Given the description of an element on the screen output the (x, y) to click on. 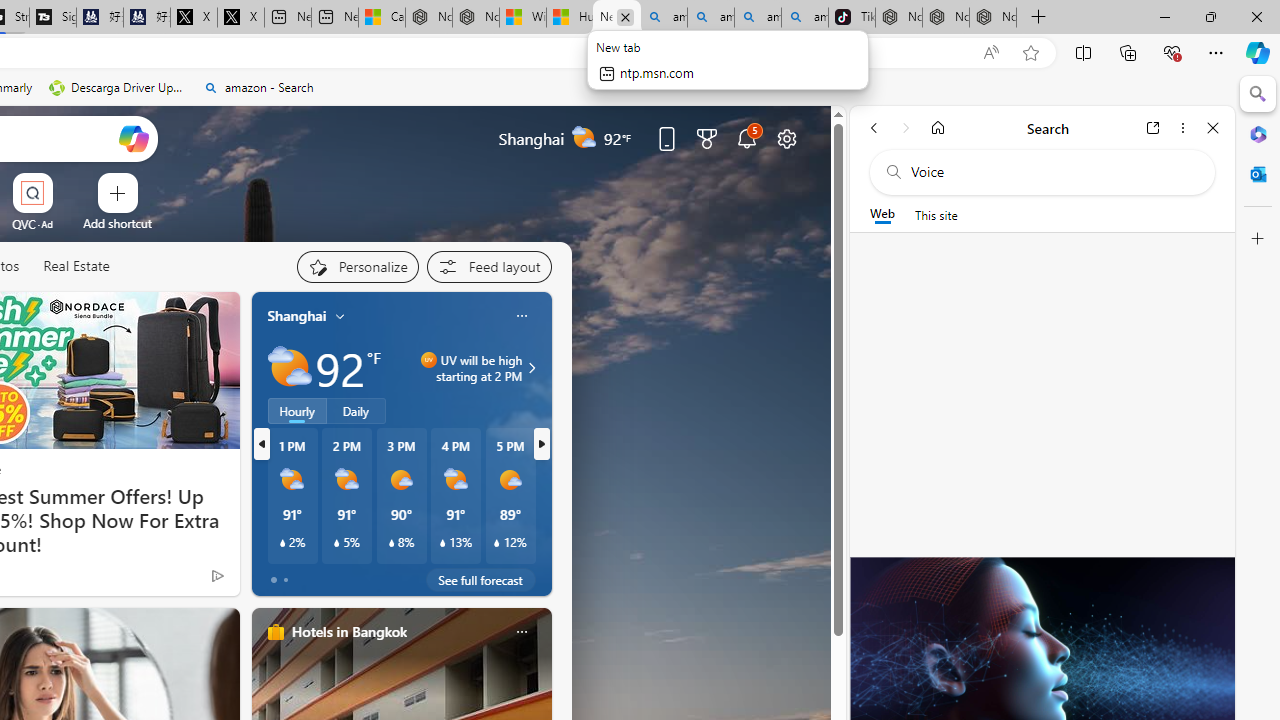
Page settings (786, 138)
Nordace - Best Sellers (898, 17)
This site scope (936, 215)
Daily (356, 411)
tab-1 (285, 579)
